Given the description of an element on the screen output the (x, y) to click on. 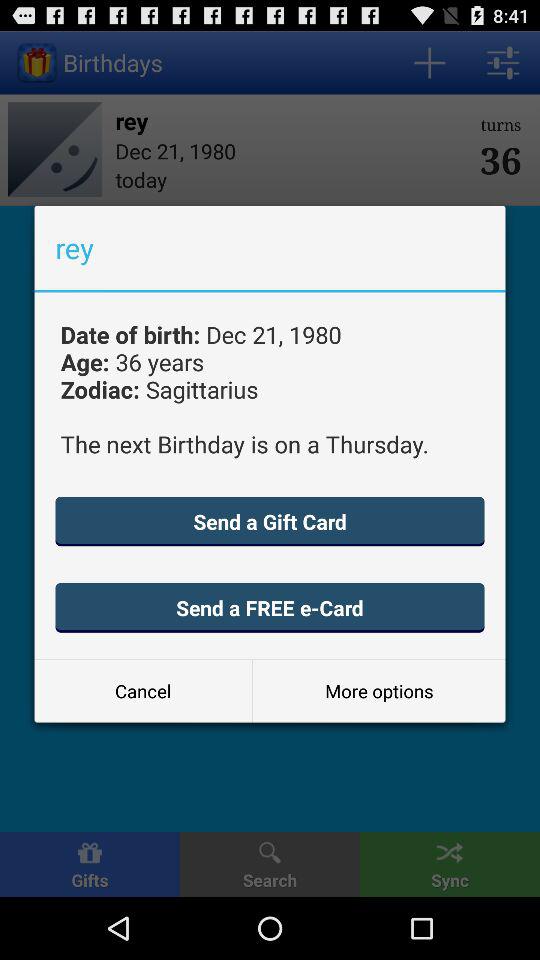
launch the button below the send a free button (143, 690)
